Given the description of an element on the screen output the (x, y) to click on. 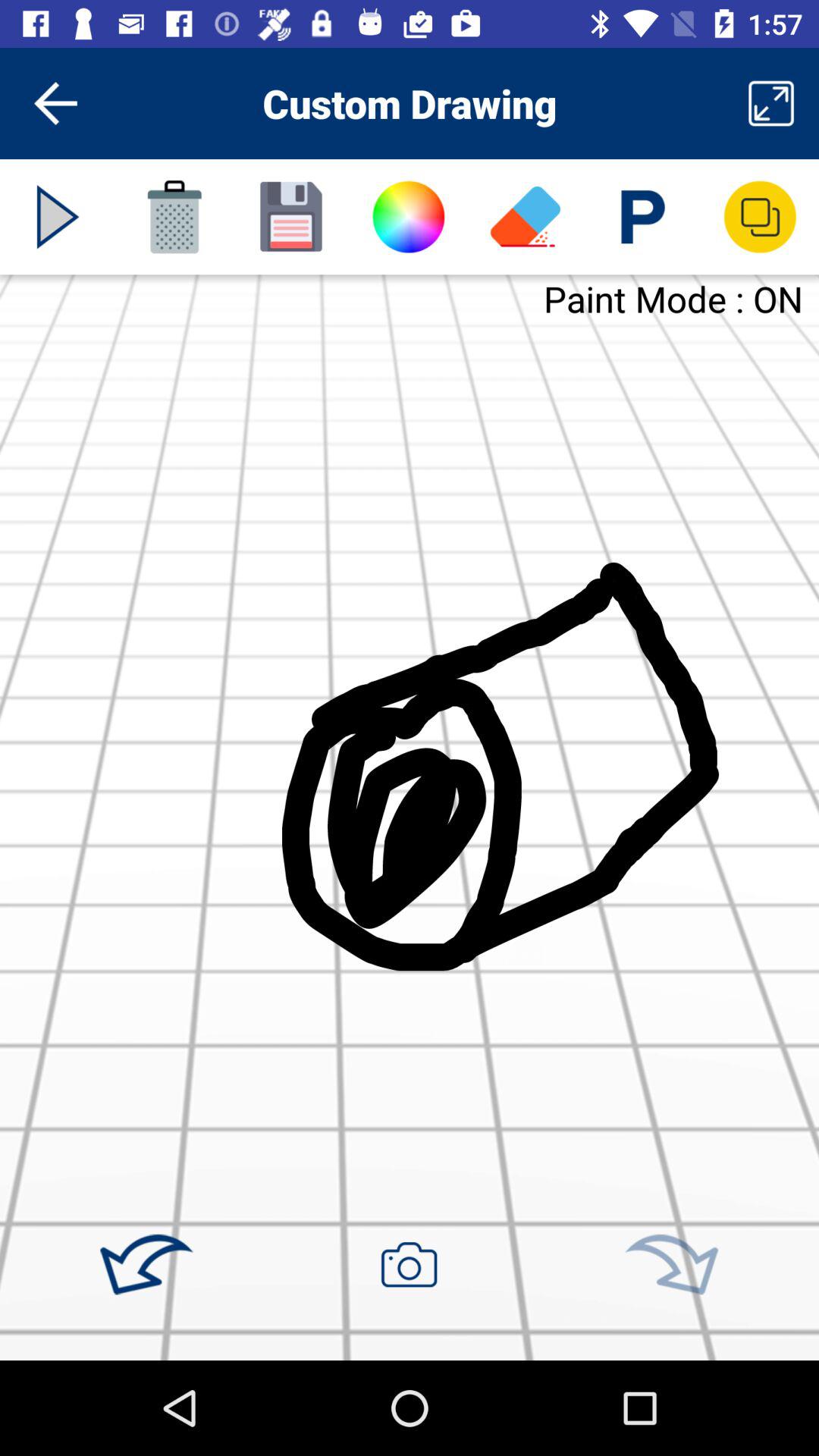
erase (525, 216)
